Given the description of an element on the screen output the (x, y) to click on. 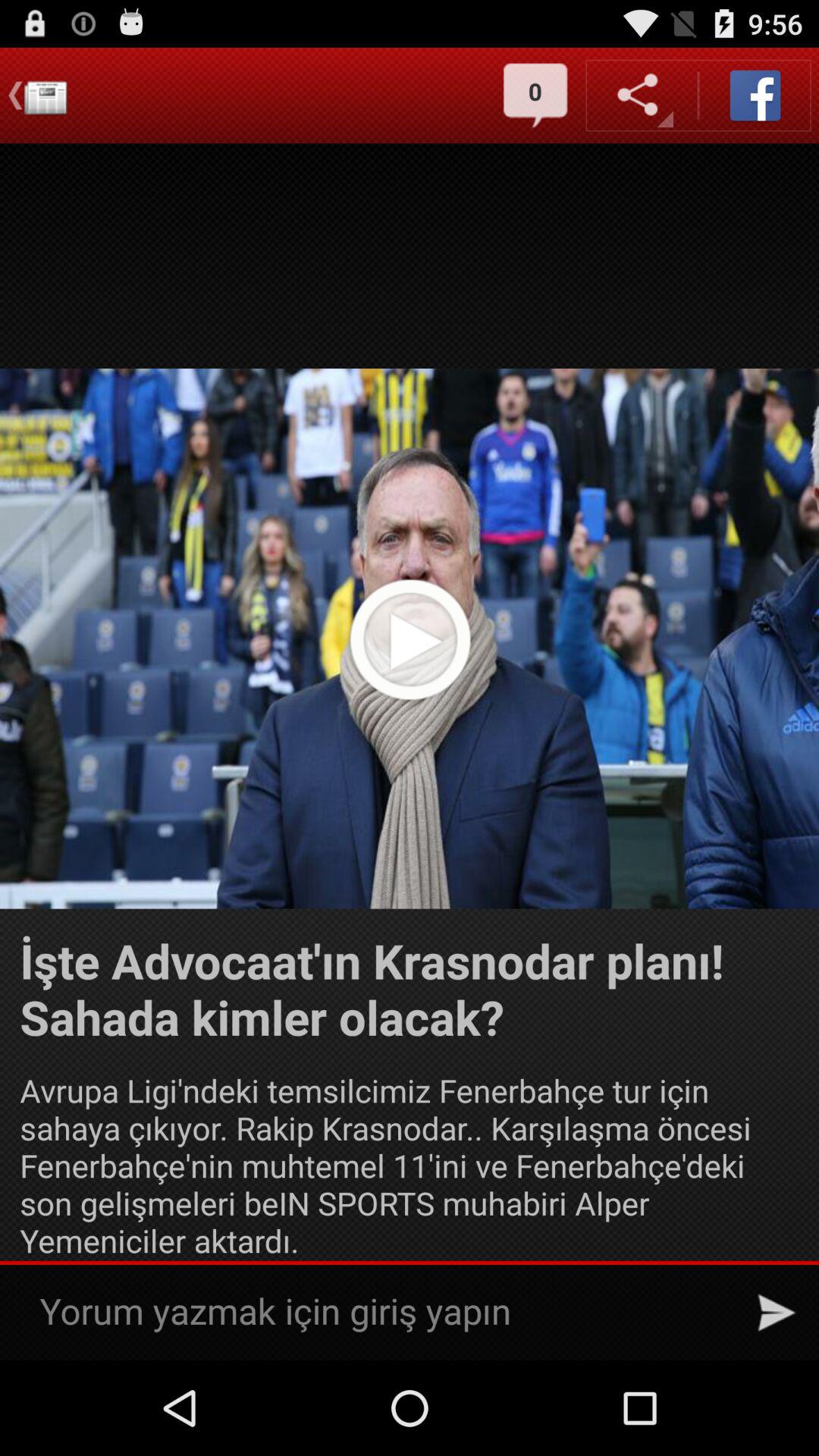
type into search bar (382, 1312)
